Given the description of an element on the screen output the (x, y) to click on. 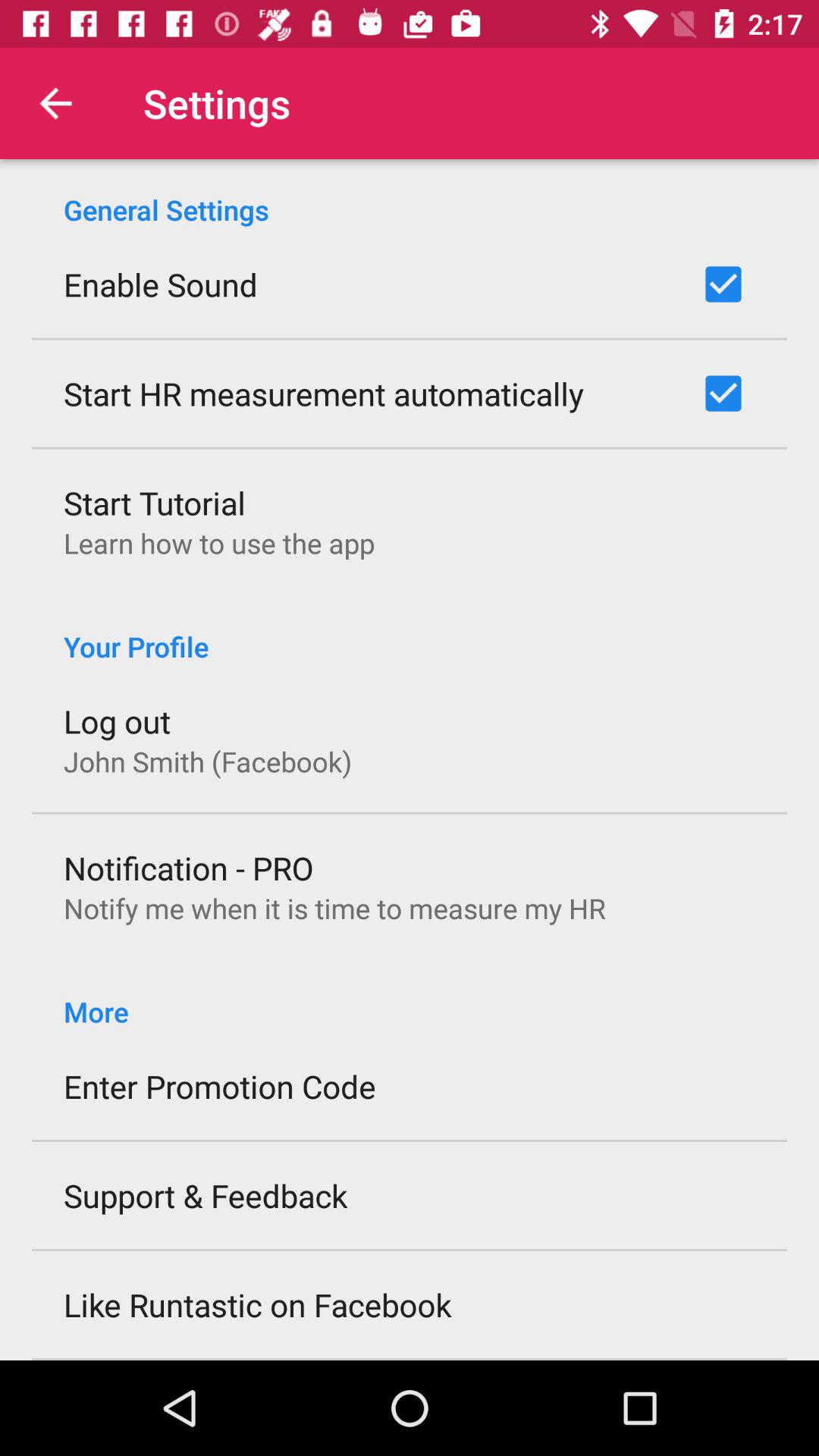
choose the learn how to item (218, 542)
